Given the description of an element on the screen output the (x, y) to click on. 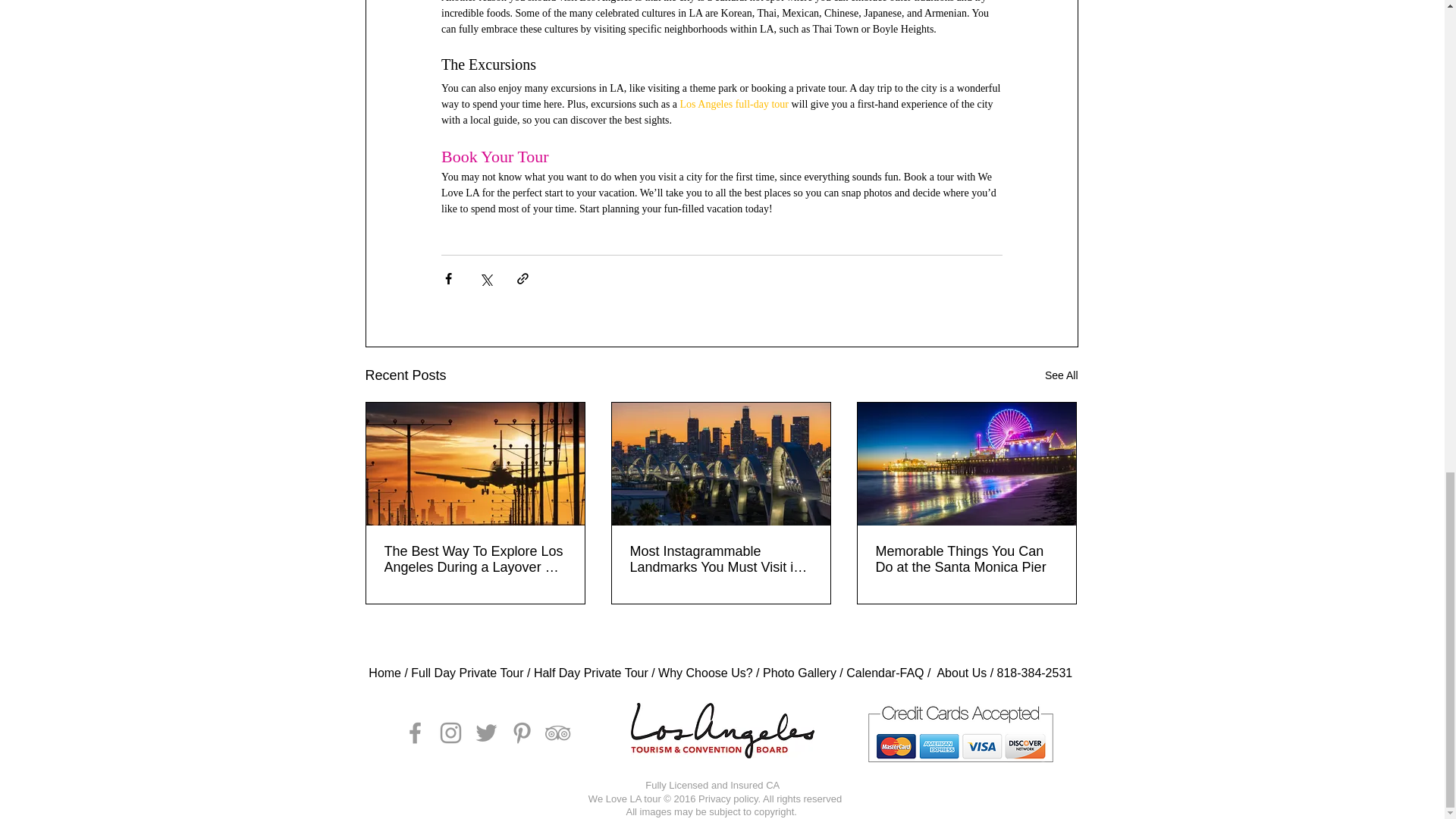
Full Day Private Tour (466, 672)
Why Choose Us? (705, 672)
Photo Gallery (798, 672)
Memorable Things You Can Do at the Santa Monica Pier (966, 559)
Half Day Private Tour (588, 672)
Most Instagrammable Landmarks You Must Visit in LA (719, 559)
Calendar-FAQ (884, 672)
Los Angeles full-day tour (733, 103)
See All (1061, 375)
About Us (961, 672)
Home (386, 672)
The Best Way To Explore Los Angeles During a Layover at LAx (475, 559)
